Given the description of an element on the screen output the (x, y) to click on. 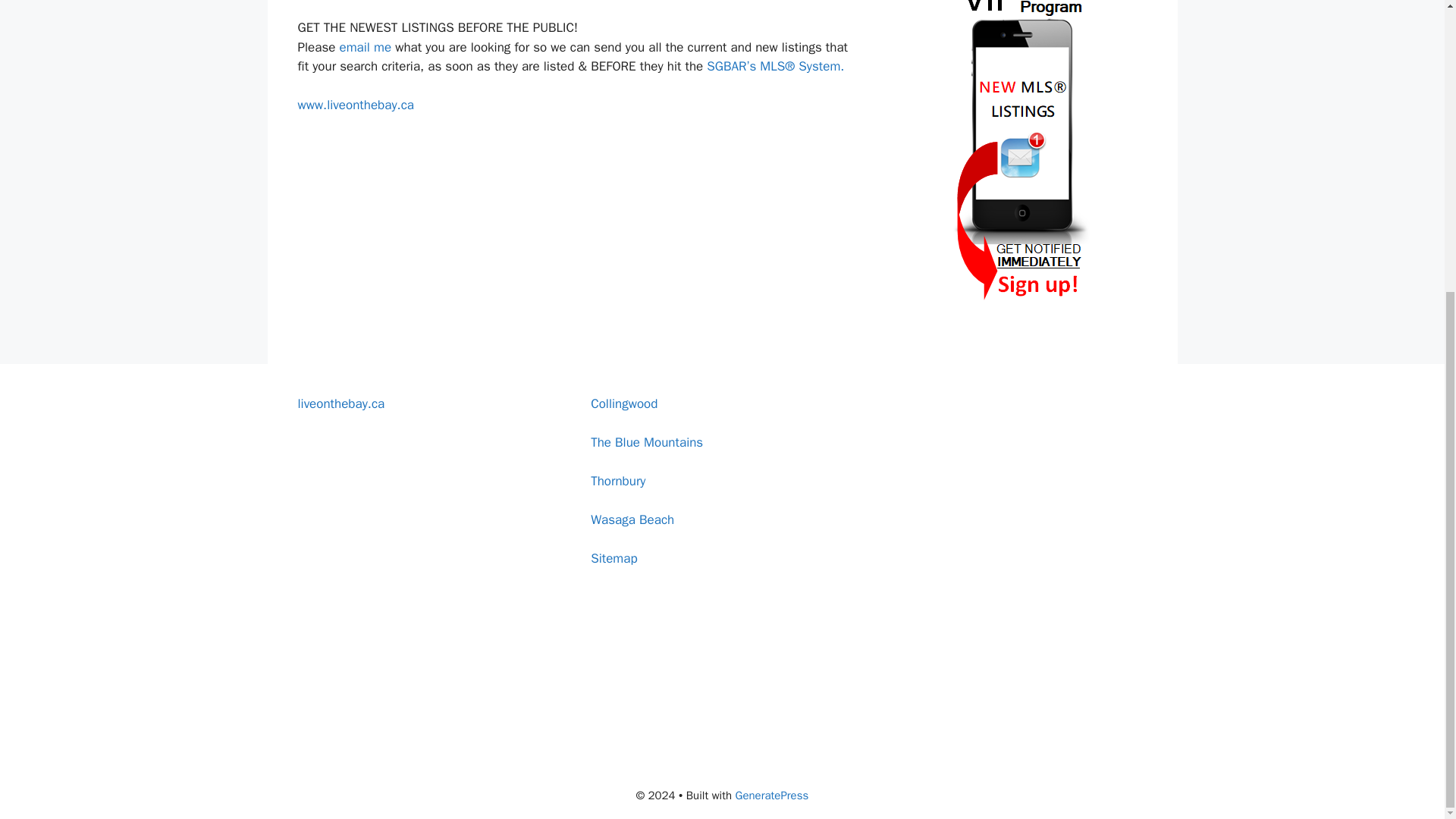
email me (367, 47)
Sitemap (614, 558)
Wasaga Beach (632, 519)
liveonthebay.ca (340, 403)
The Blue Mountains (647, 442)
Thornbury (618, 480)
GeneratePress (772, 795)
Collingwood (624, 403)
www.liveonthebay.ca (355, 105)
